Given the description of an element on the screen output the (x, y) to click on. 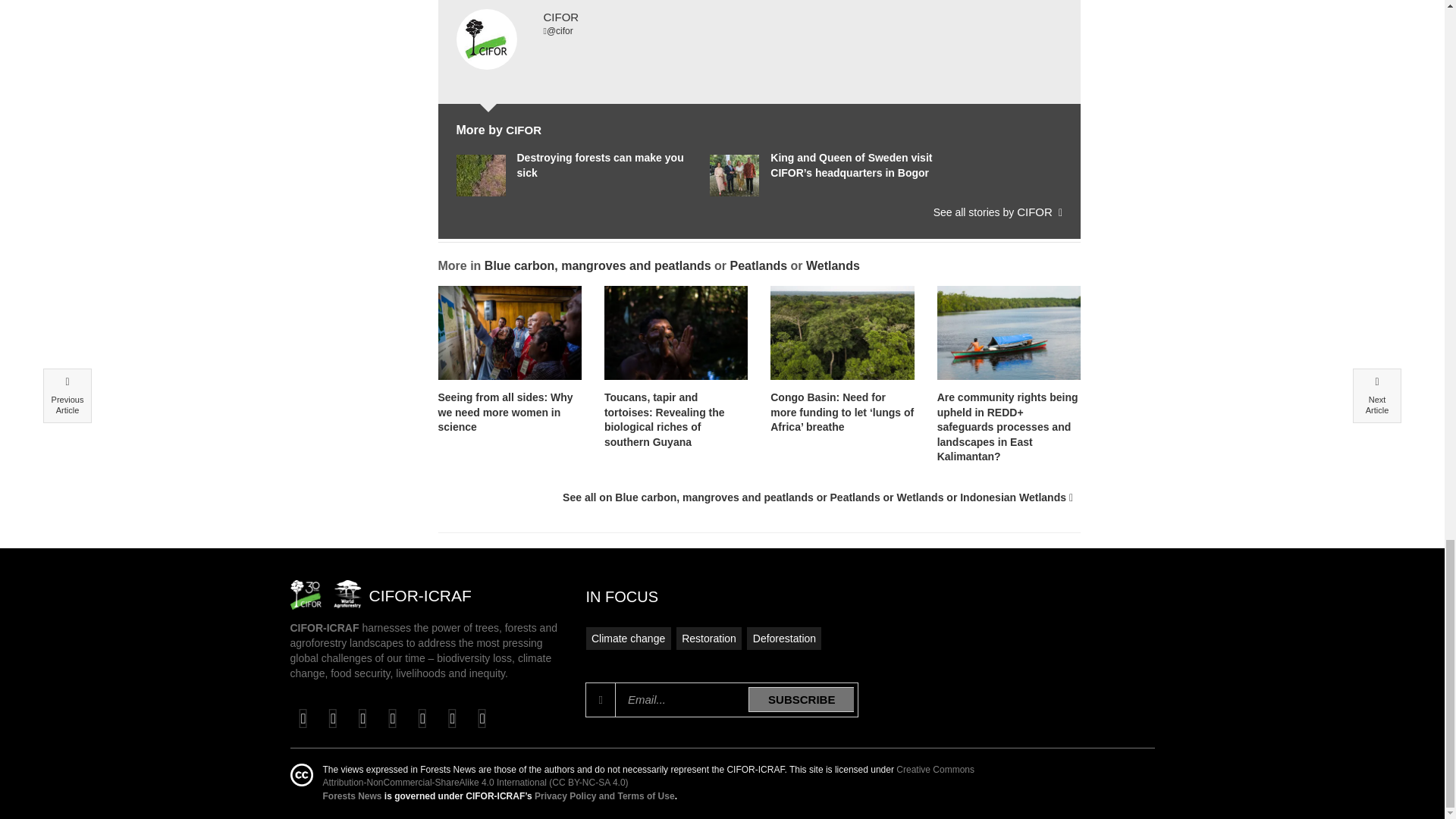
Subscribe (800, 699)
